Given the description of an element on the screen output the (x, y) to click on. 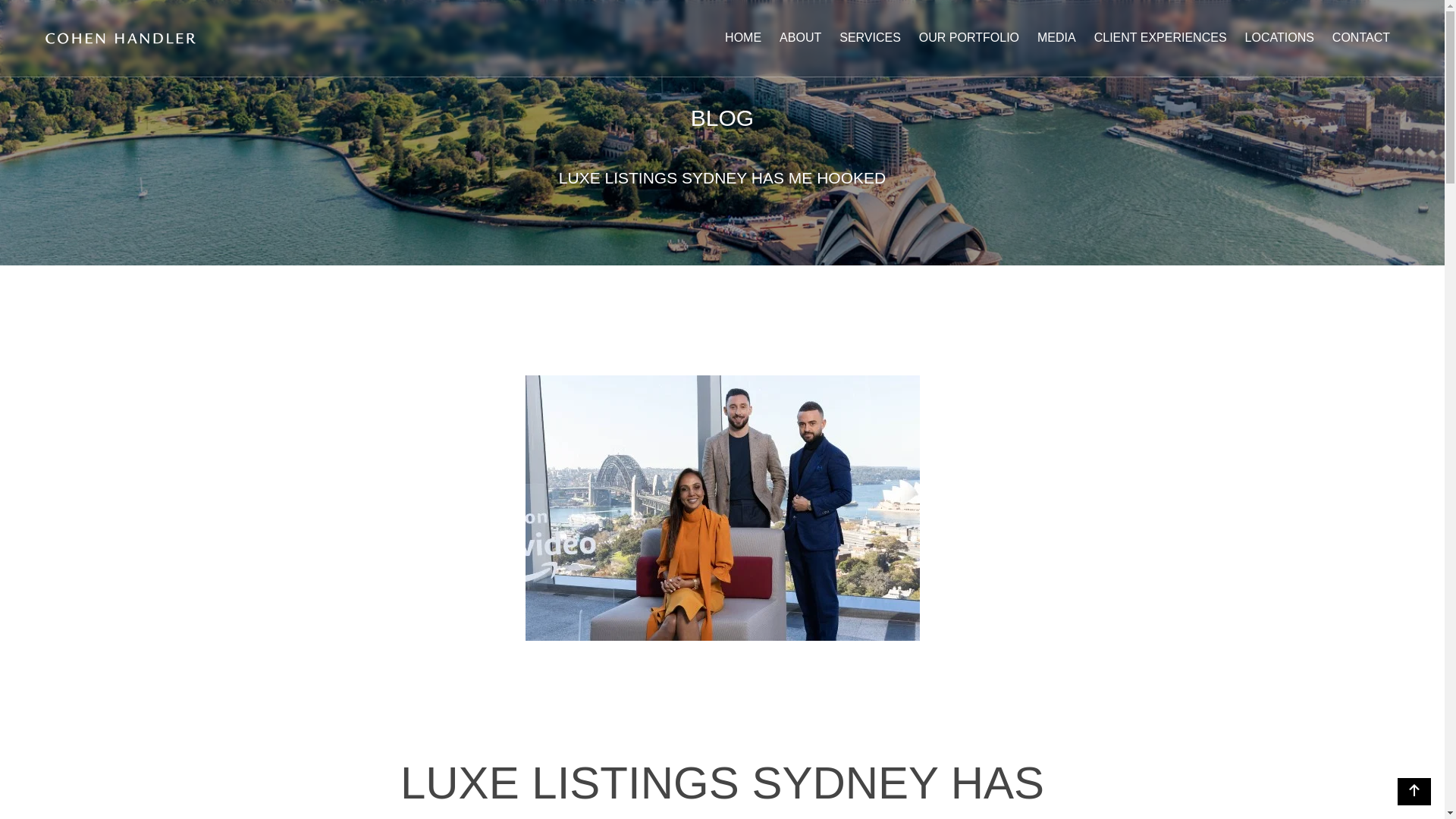
SERVICES (869, 37)
ABOUT (799, 37)
HOME (743, 37)
